Given the description of an element on the screen output the (x, y) to click on. 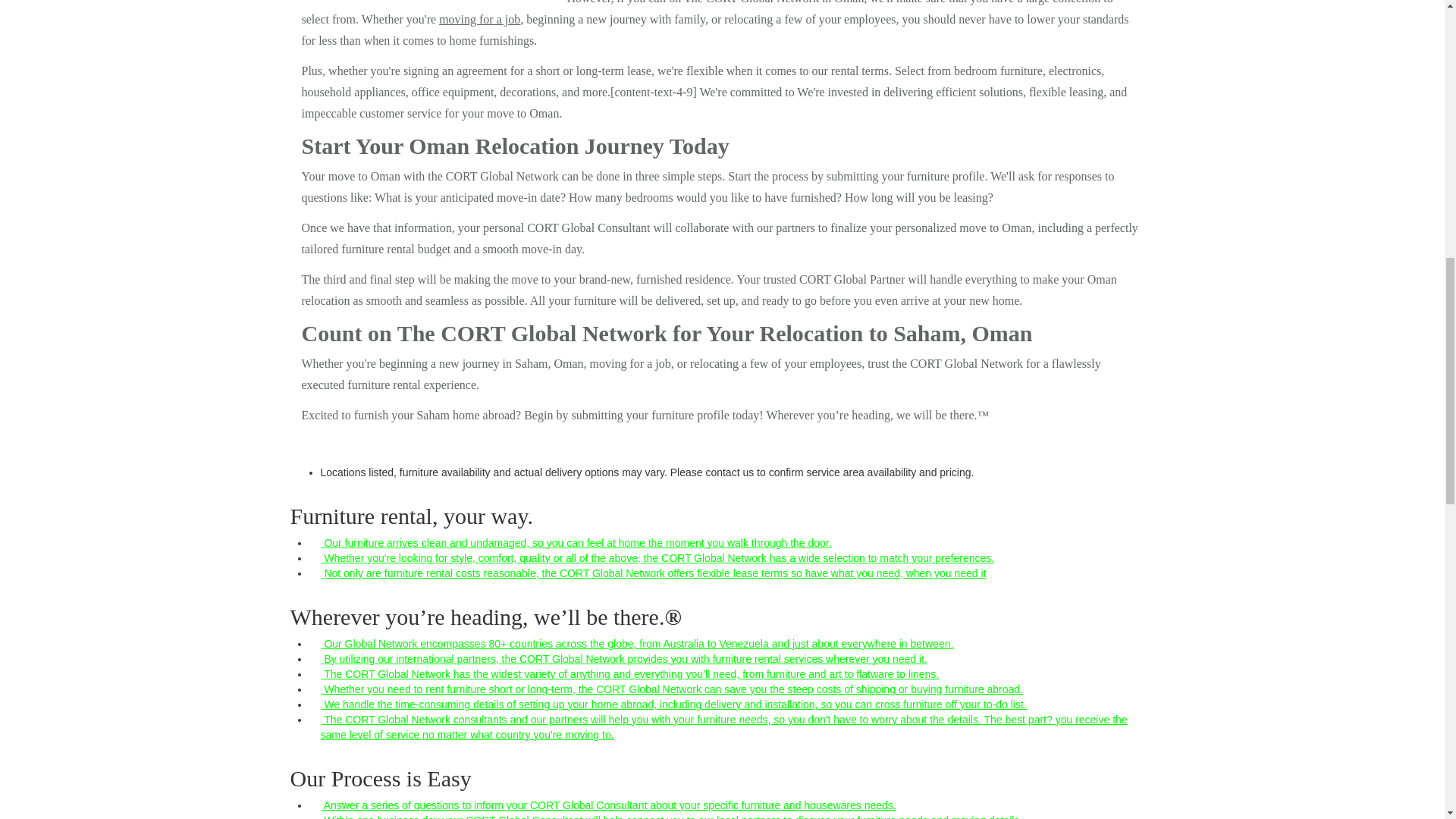
moving for a job (479, 19)
